Given the description of an element on the screen output the (x, y) to click on. 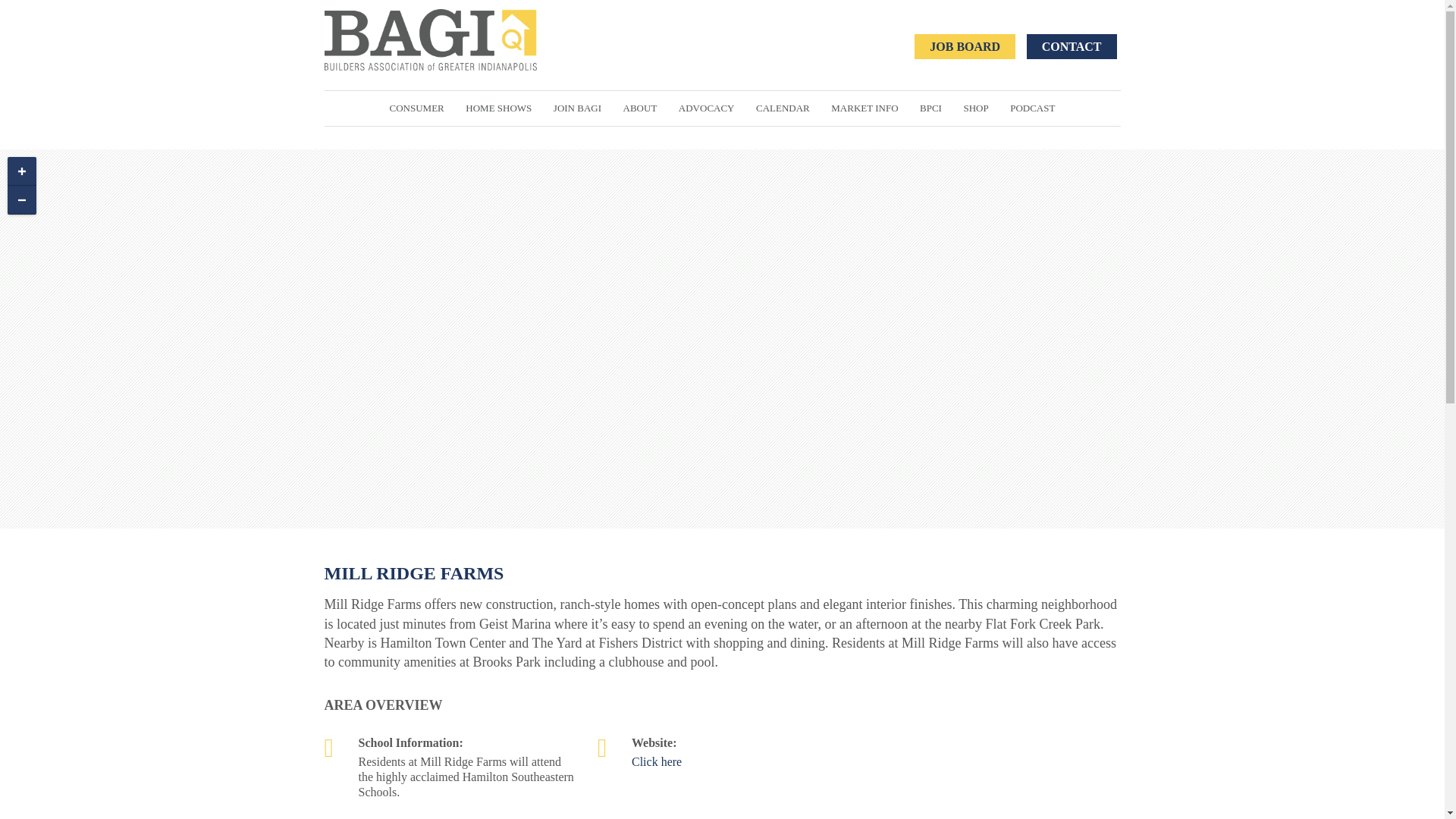
JOB BOARD (964, 46)
CONTACT (1071, 46)
JOIN BAGI (577, 108)
MARKET INFO (864, 108)
CALENDAR (782, 108)
BPCI (930, 108)
HOME SHOWS (498, 108)
Zoom in (21, 171)
SHOP (975, 108)
Zoom out (21, 199)
CONSUMER (416, 108)
ABOUT (640, 108)
ADVOCACY (706, 108)
